Given the description of an element on the screen output the (x, y) to click on. 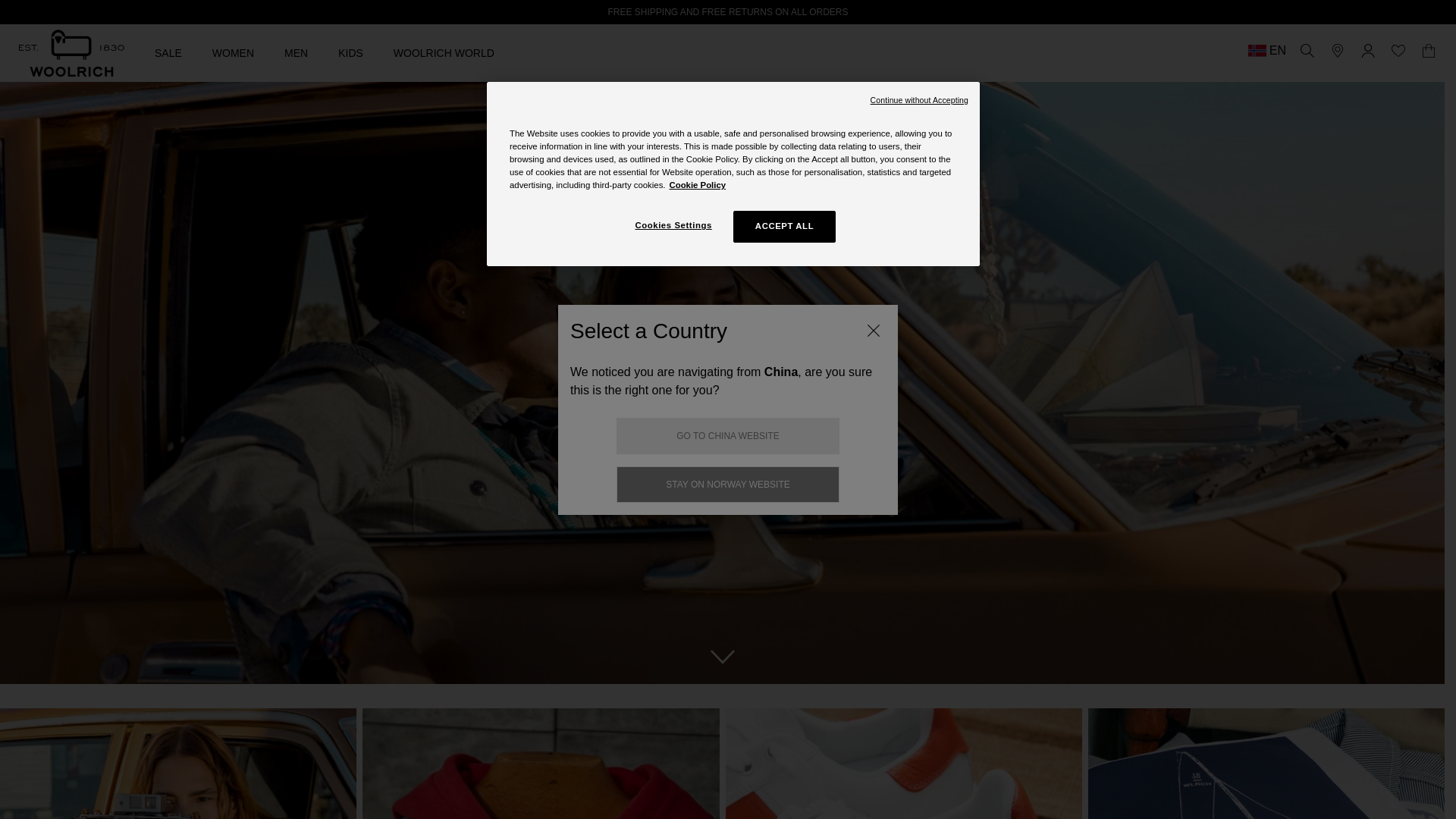
EN (1266, 49)
MEN (295, 52)
SALE (168, 52)
WOMEN (232, 52)
KIDS (349, 52)
WOOLRICH WORLD (444, 52)
